Given the description of an element on the screen output the (x, y) to click on. 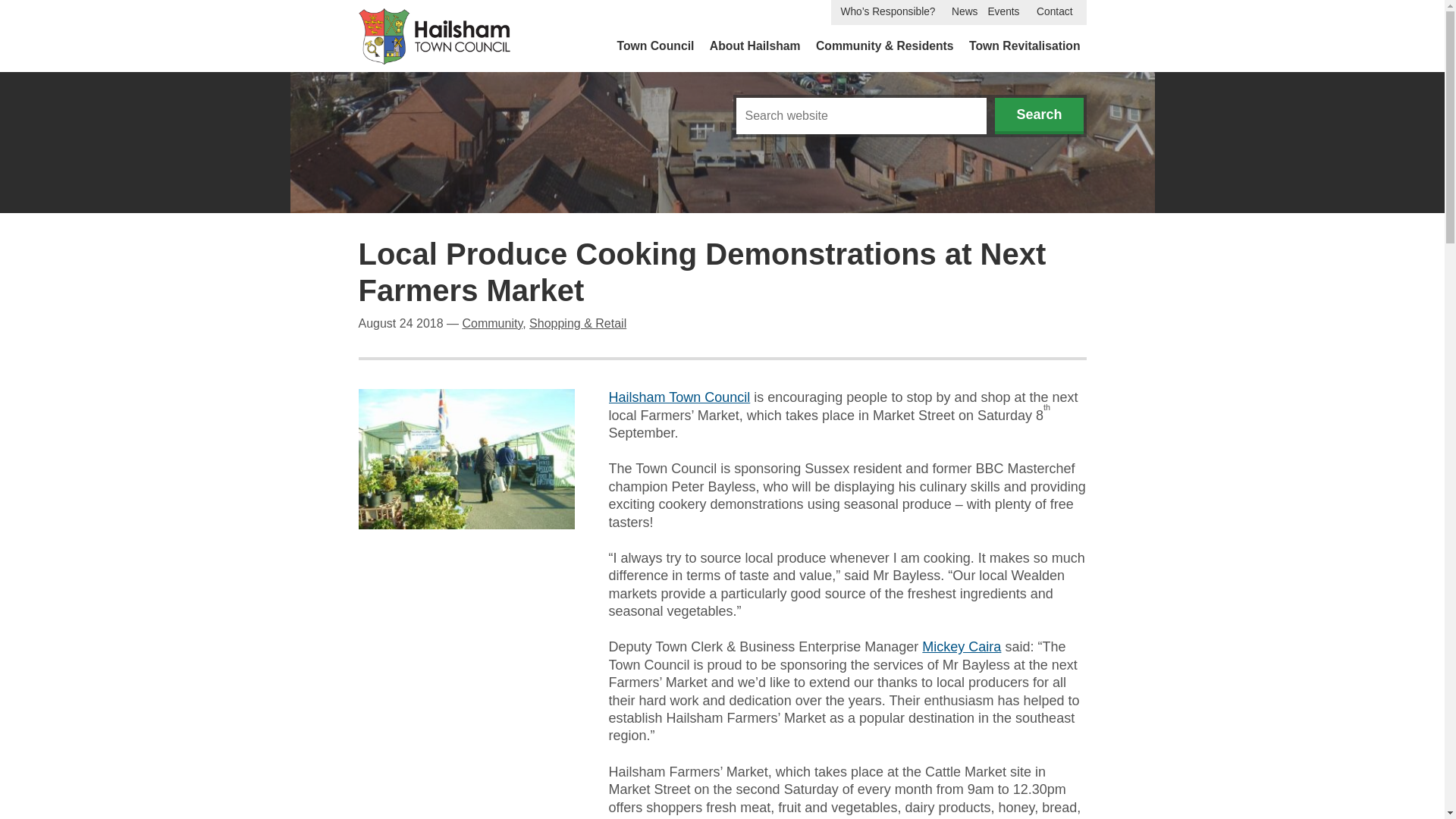
Hailsham Town Council (678, 396)
News (964, 12)
Town Revitalisation (1024, 45)
About Hailsham (754, 45)
Mickey Caira (961, 646)
Contact (1054, 12)
Town Council (655, 45)
Search (1038, 115)
Community (491, 323)
Events (1003, 12)
